Given the description of an element on the screen output the (x, y) to click on. 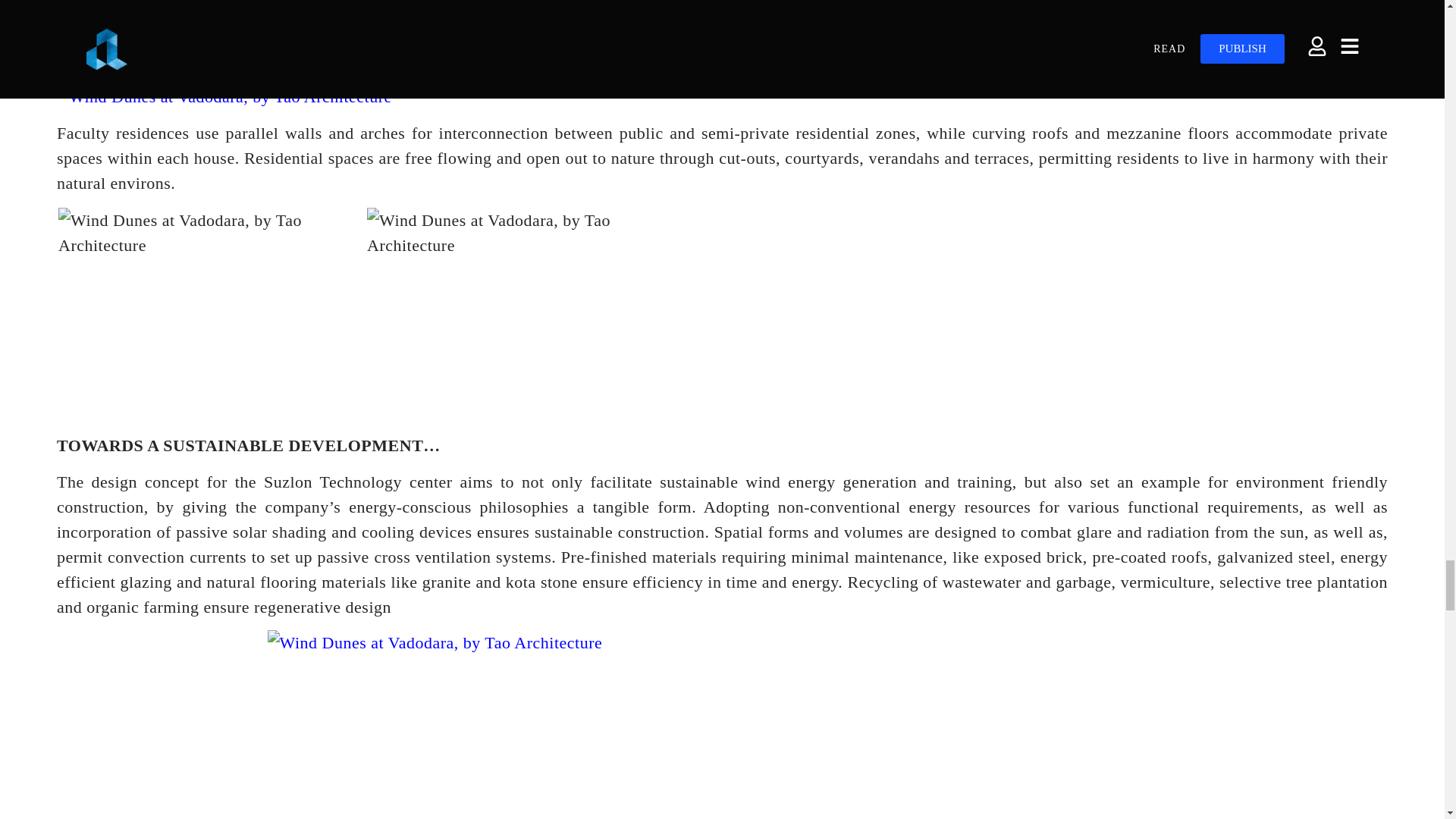
Wind Dunes at Vadodara, by Tao Architecture (514, 232)
